Given the description of an element on the screen output the (x, y) to click on. 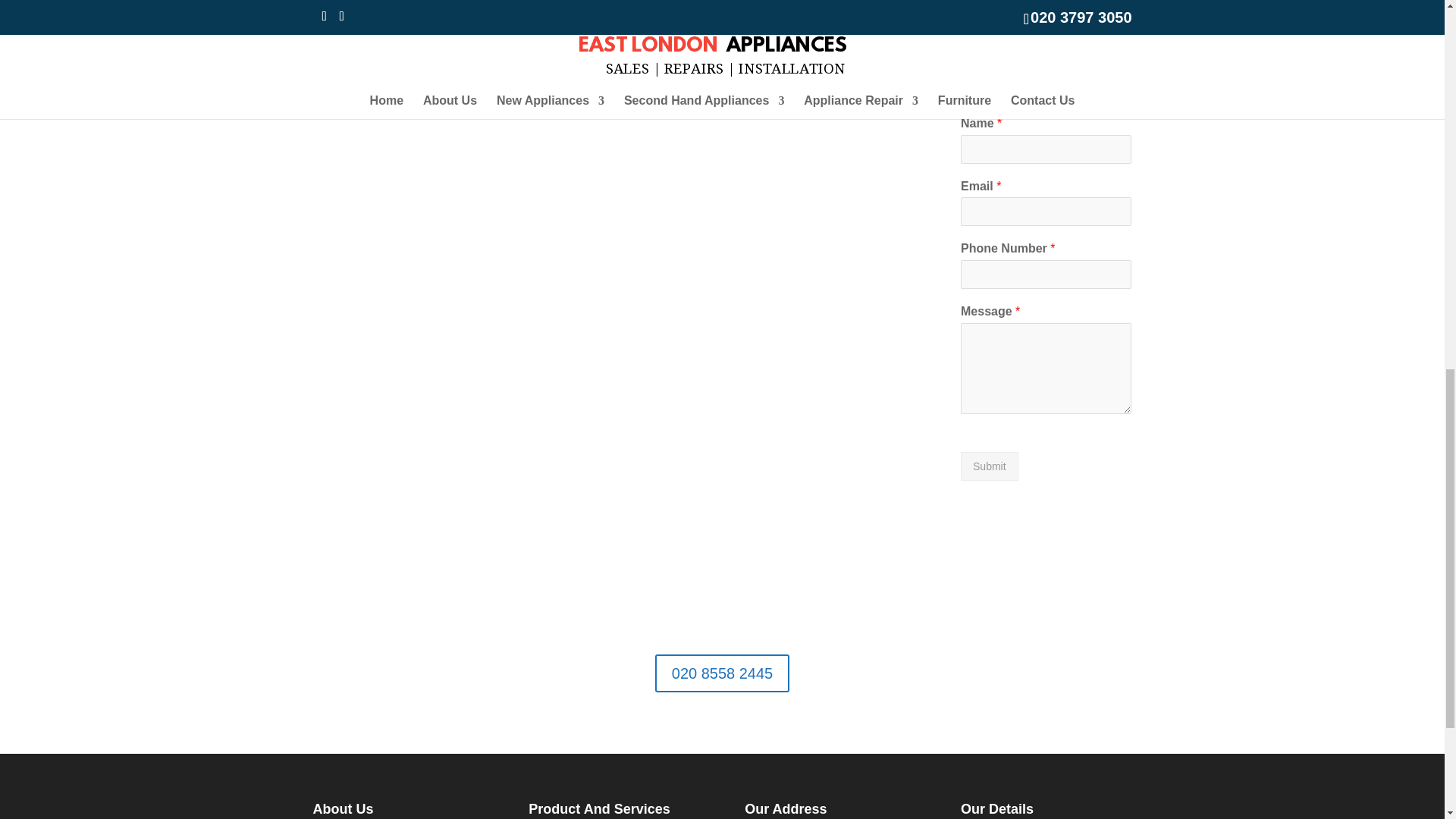
020 8558 2445 (722, 673)
Submit (988, 466)
